Given the description of an element on the screen output the (x, y) to click on. 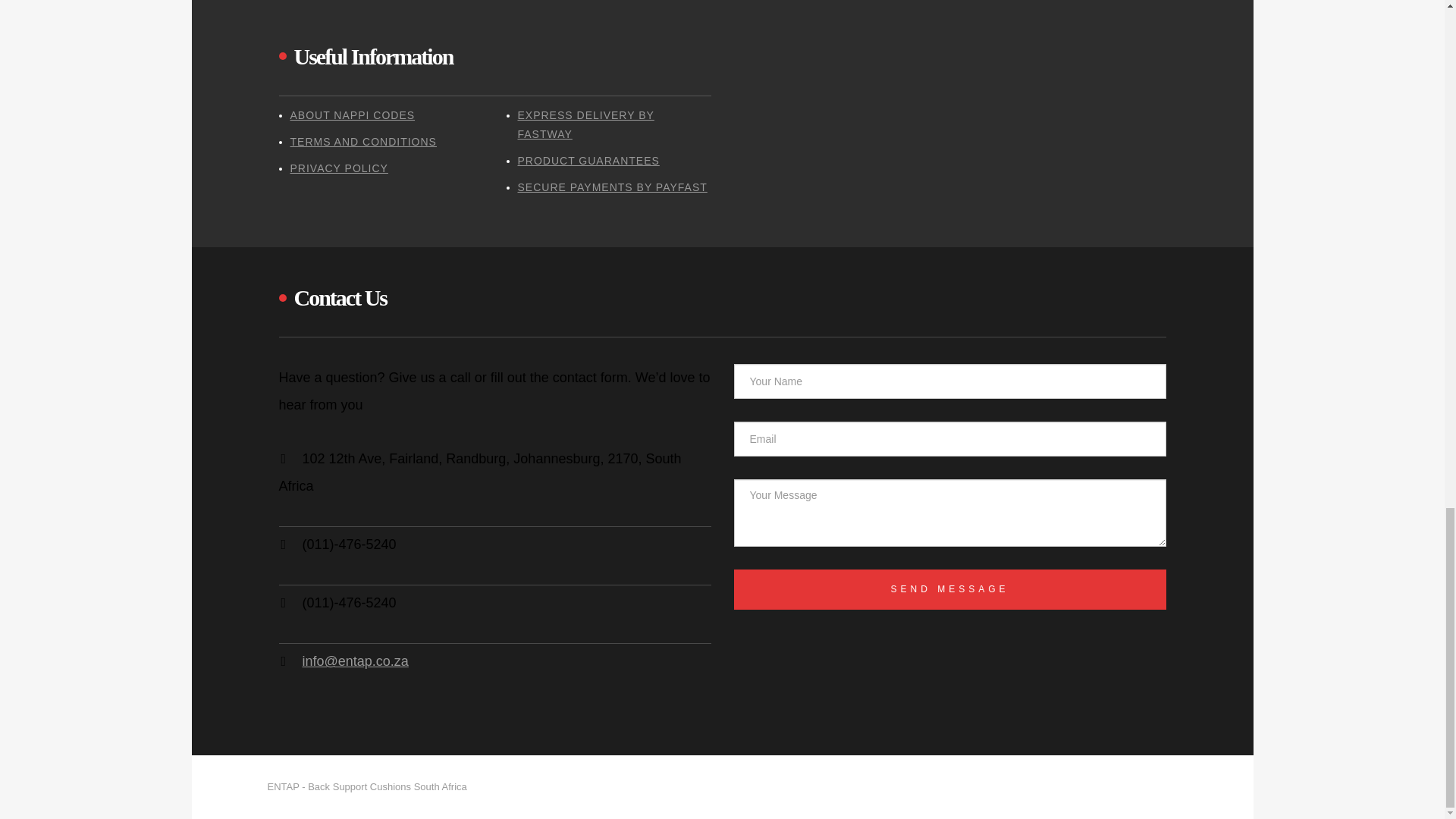
Send Message (949, 589)
ABOUT NAPPI CODES (351, 114)
TERMS AND CONDITIONS (362, 141)
EXPRESS DELIVERY BY FASTWAY (584, 124)
SECURE PAYMENTS BY PAYFAST (611, 186)
PRIVACY POLICY (338, 168)
Send Message (949, 589)
PRODUCT GUARANTEES (587, 160)
